Given the description of an element on the screen output the (x, y) to click on. 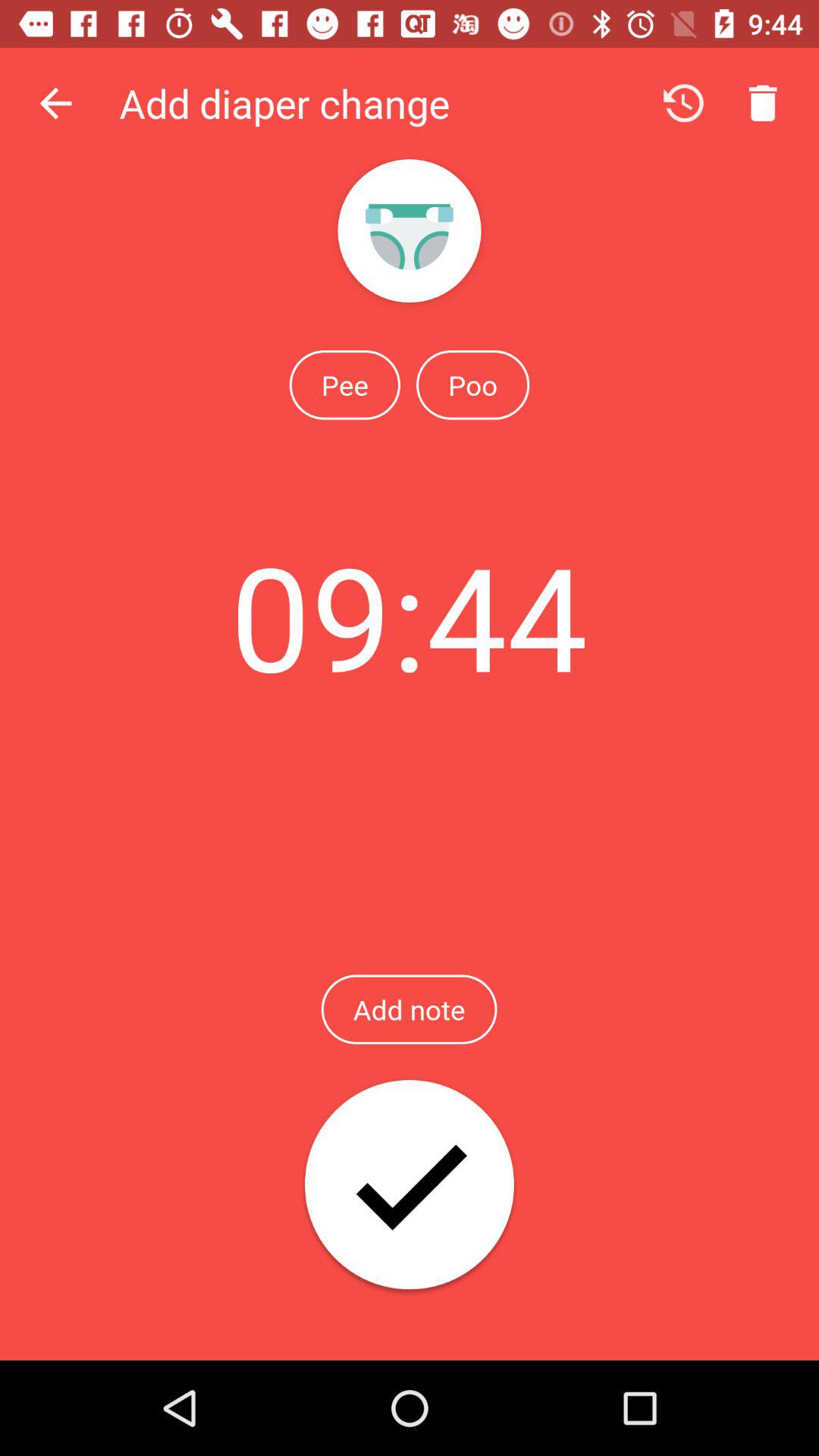
click icon below add note icon (409, 1186)
